Given the description of an element on the screen output the (x, y) to click on. 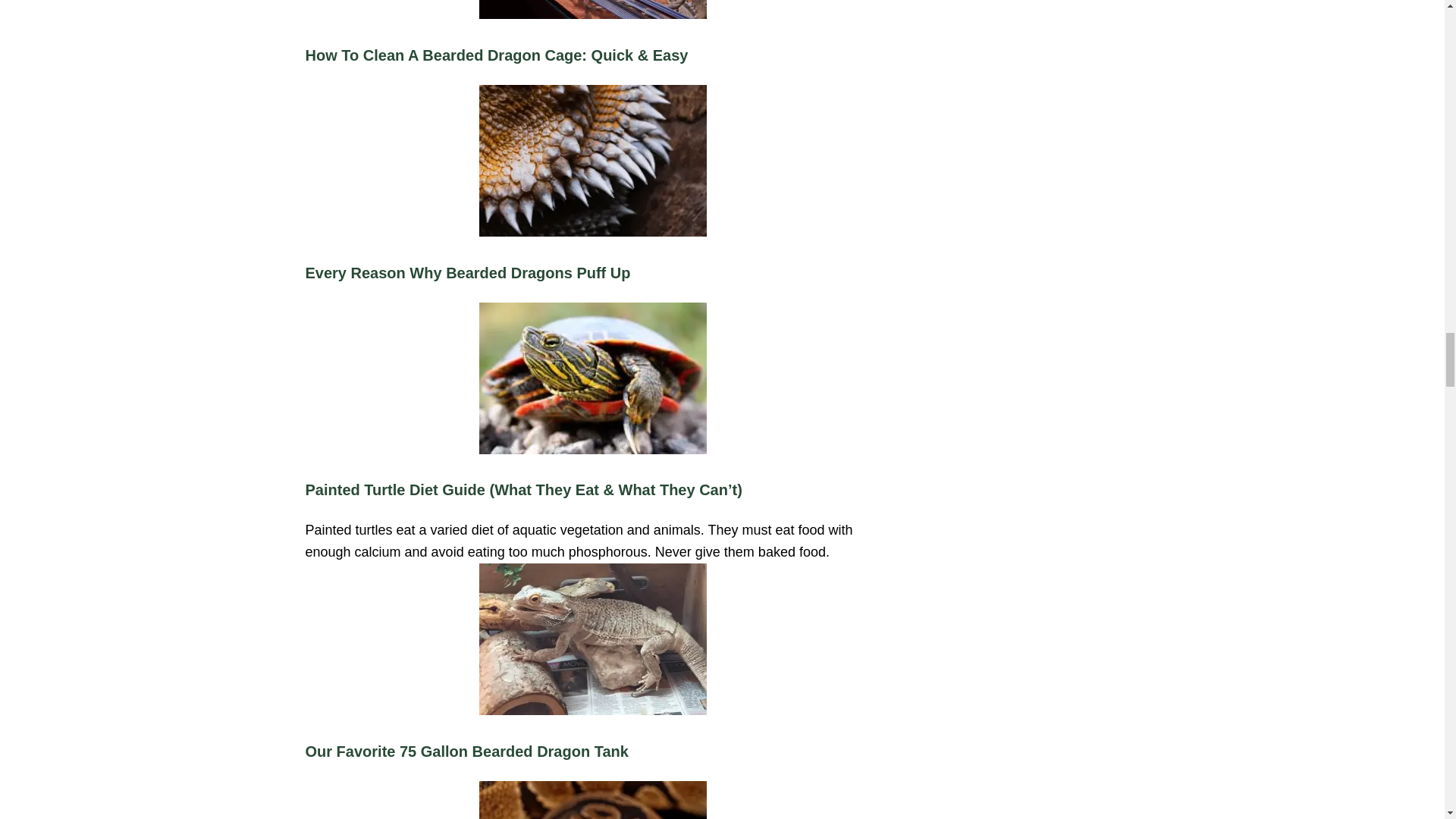
Why Do Ball Pythons Yawn? Is It Normal? (592, 800)
